Given the description of an element on the screen output the (x, y) to click on. 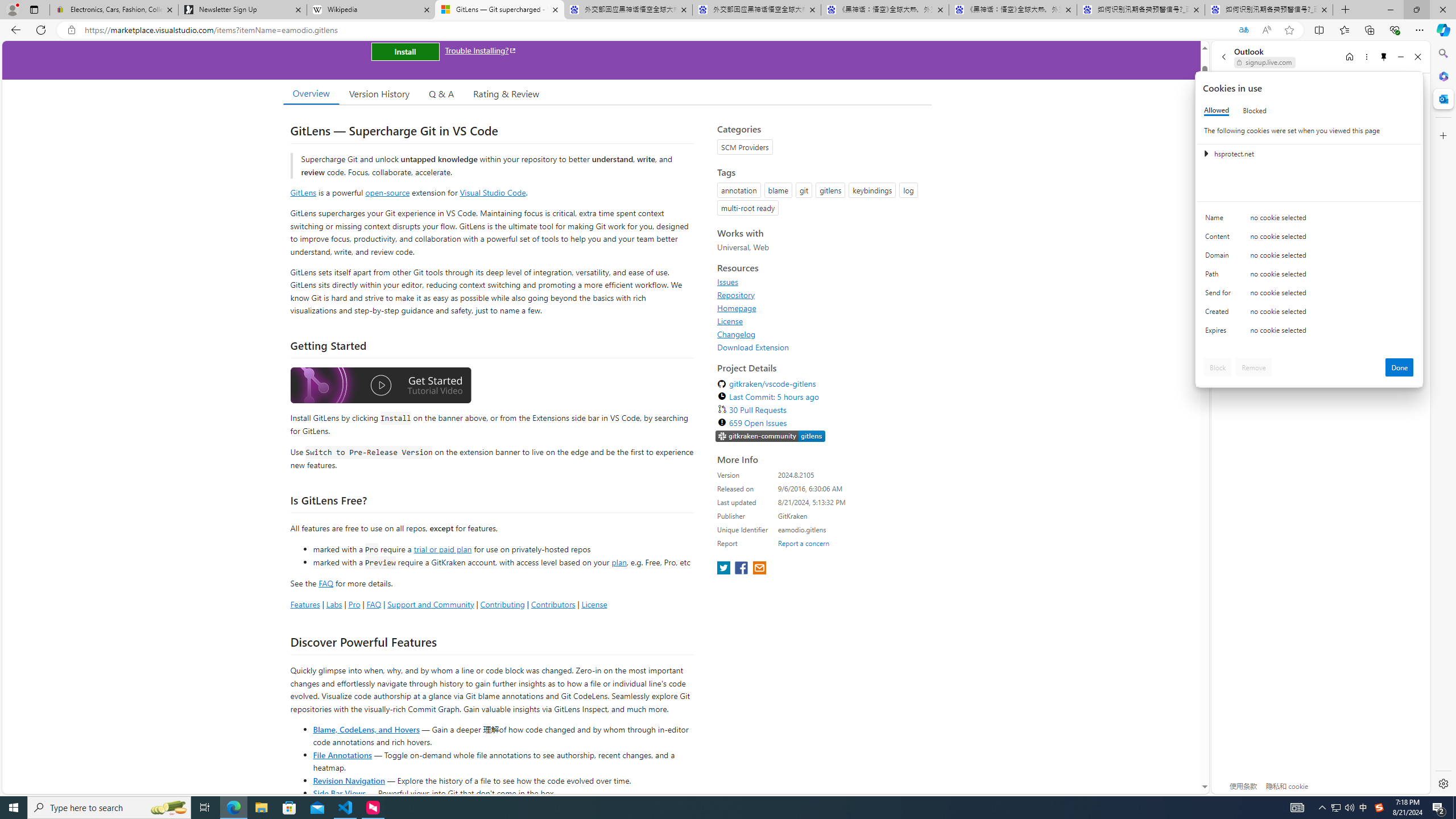
Blocked (1255, 110)
Expires (1219, 332)
Name (1219, 220)
Block (1217, 367)
Path (1219, 276)
Allowed (1216, 110)
no cookie selected (1331, 332)
Class: c0153 c0157 (1309, 332)
Done (1399, 367)
Remove (1253, 367)
Class: c0153 c0157 c0154 (1309, 220)
Created (1219, 313)
Send for (1219, 295)
Content (1219, 239)
Domain (1219, 257)
